Given the description of an element on the screen output the (x, y) to click on. 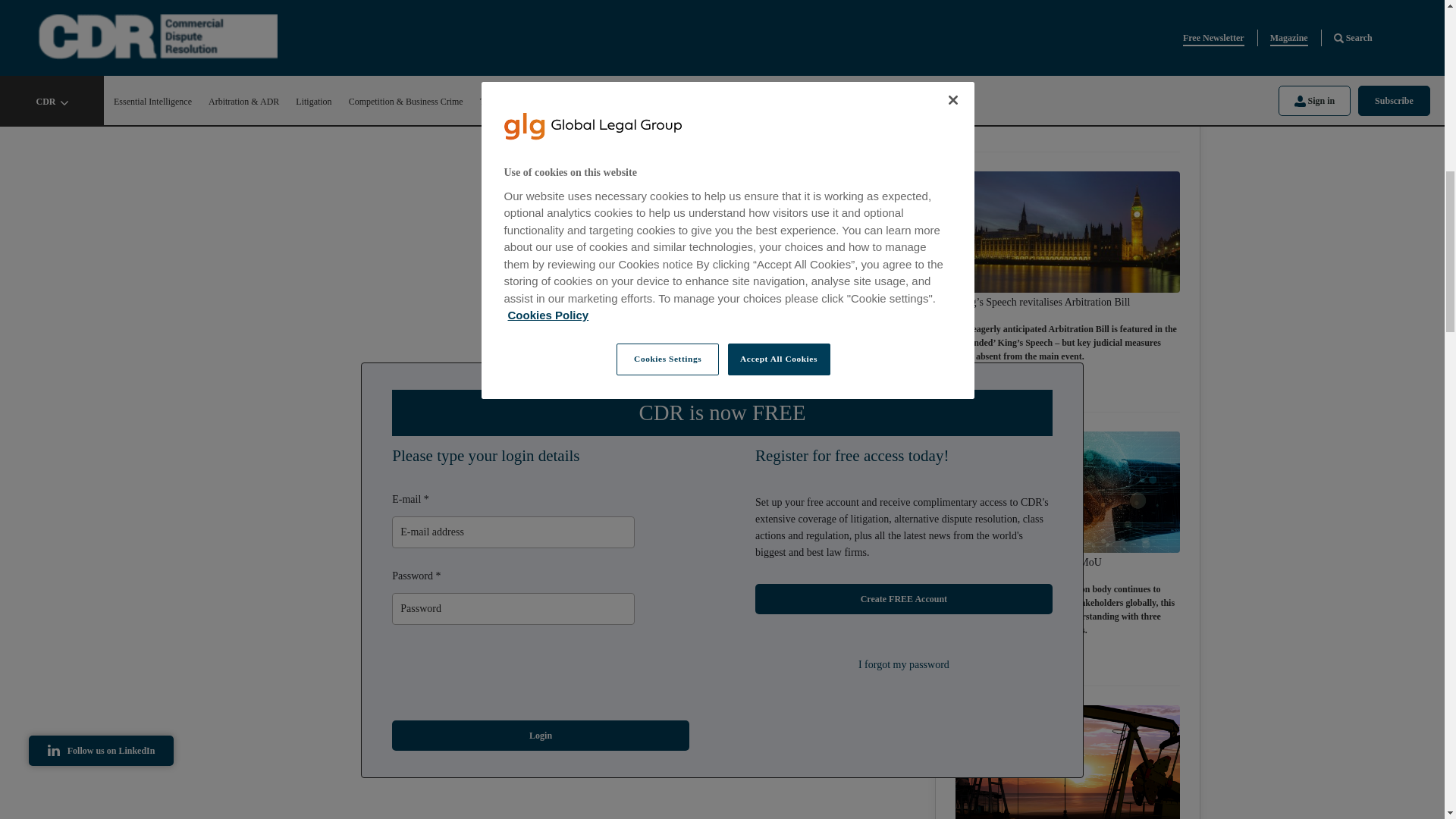
Colombia wins mining arbitration on environmental grounds (1067, 11)
